Given the description of an element on the screen output the (x, y) to click on. 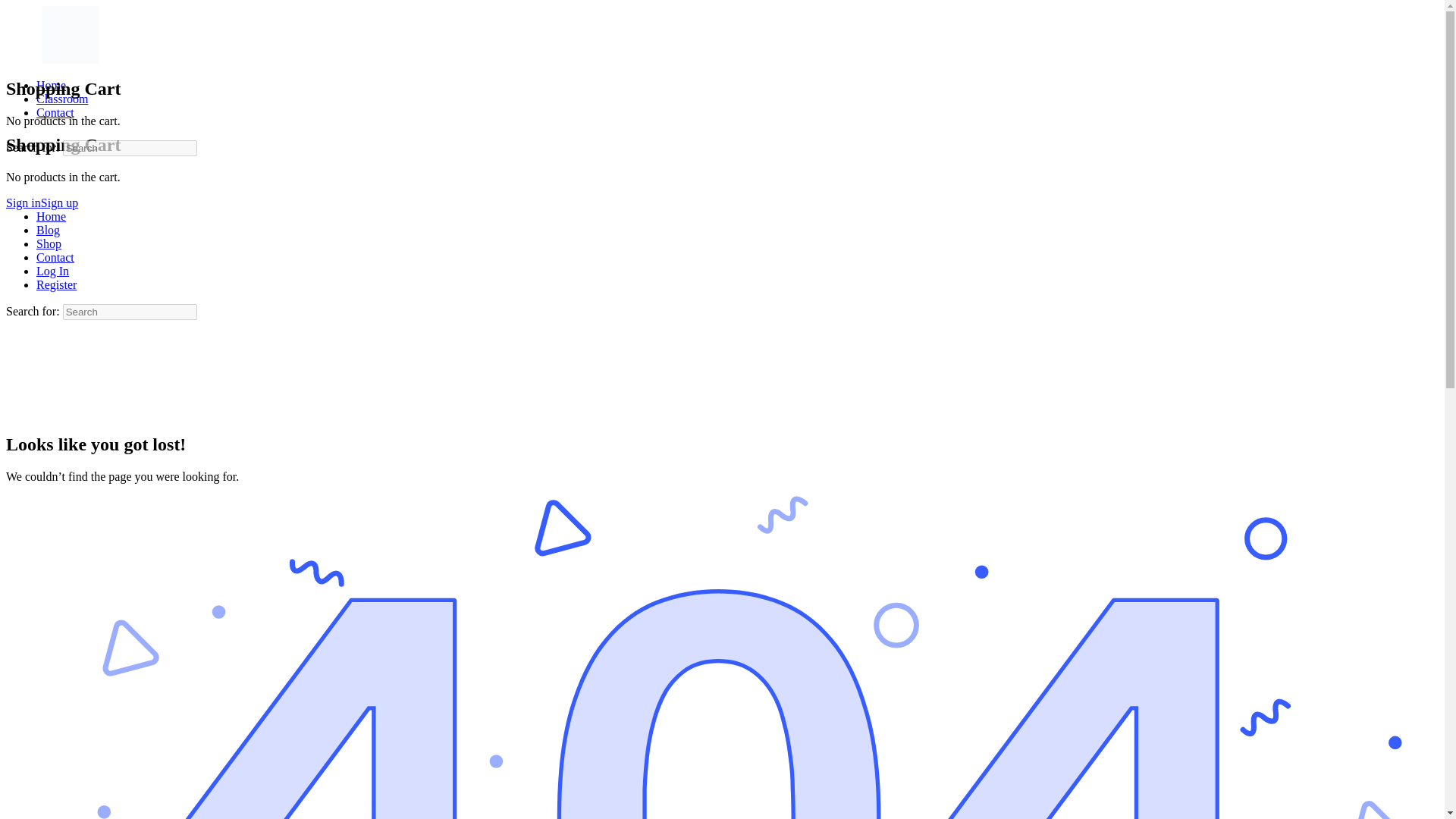
Contact (55, 112)
Home (50, 215)
Contact (55, 256)
Log In (52, 270)
Shop (48, 243)
Sign in (22, 202)
Blog (47, 229)
Classroom (61, 98)
Sign up (59, 202)
Home (50, 84)
